Given the description of an element on the screen output the (x, y) to click on. 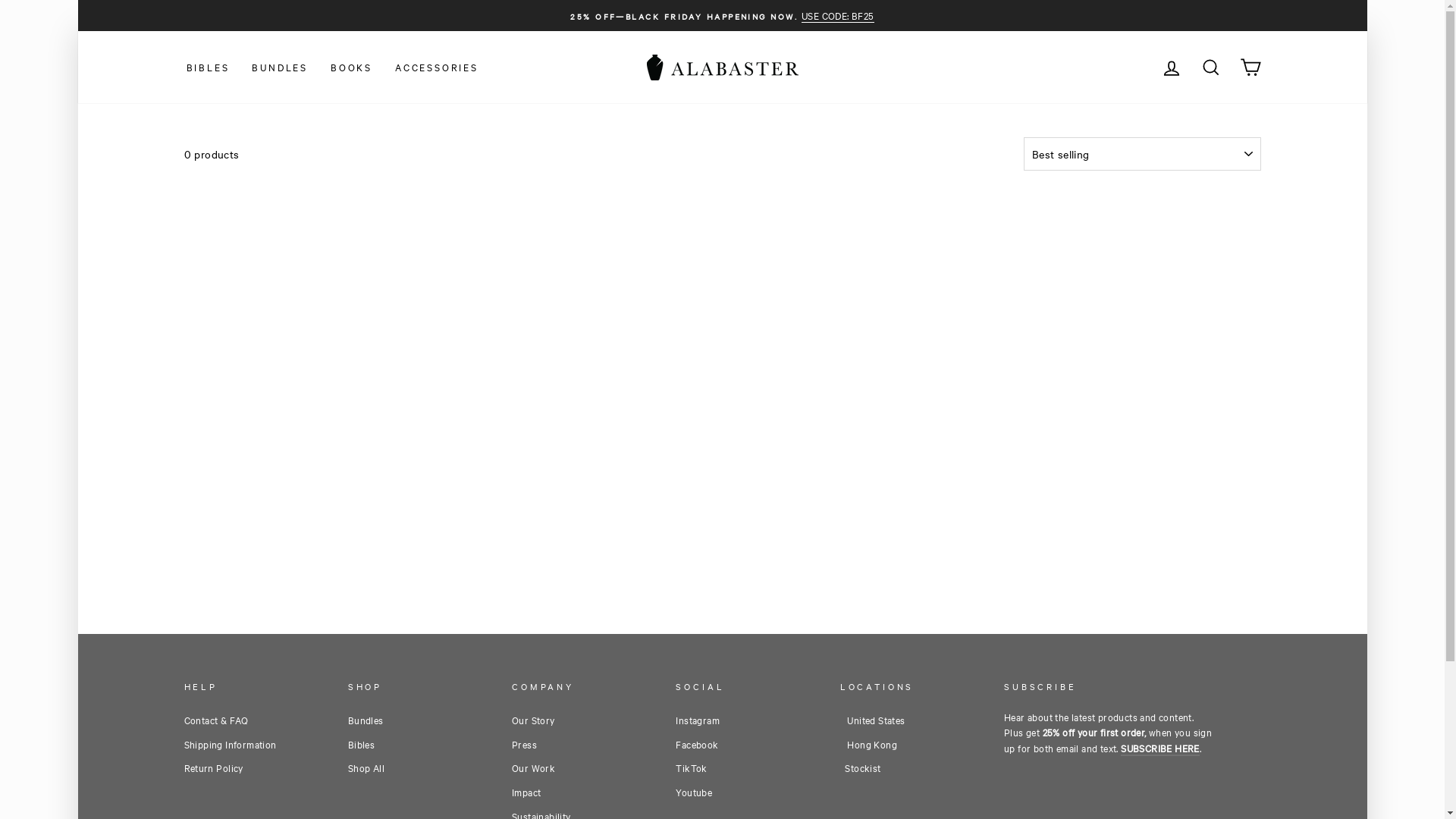
BOOKS Element type: text (351, 67)
Instagram Element type: text (697, 719)
Skip to content Element type: text (77, 0)
Youtube Element type: text (693, 791)
Our Story Element type: text (533, 719)
SEARCH Element type: text (1210, 66)
LOG IN Element type: text (1170, 66)
Shipping Information Element type: text (229, 743)
Return Policy Element type: text (212, 767)
SUBSCRIBE HERE Element type: text (1159, 748)
Press Element type: text (523, 743)
Facebook Element type: text (696, 743)
ACCESSORIES Element type: text (436, 67)
Shop All Element type: text (366, 767)
TikTok Element type: text (690, 767)
Bibles Element type: text (361, 743)
Bundles Element type: text (365, 719)
Impact Element type: text (525, 791)
BUNDLES Element type: text (279, 67)
Contact & FAQ Element type: text (215, 719)
CART Element type: text (1249, 66)
Our Work Element type: text (533, 767)
BIBLES Element type: text (207, 67)
